Given the description of an element on the screen output the (x, y) to click on. 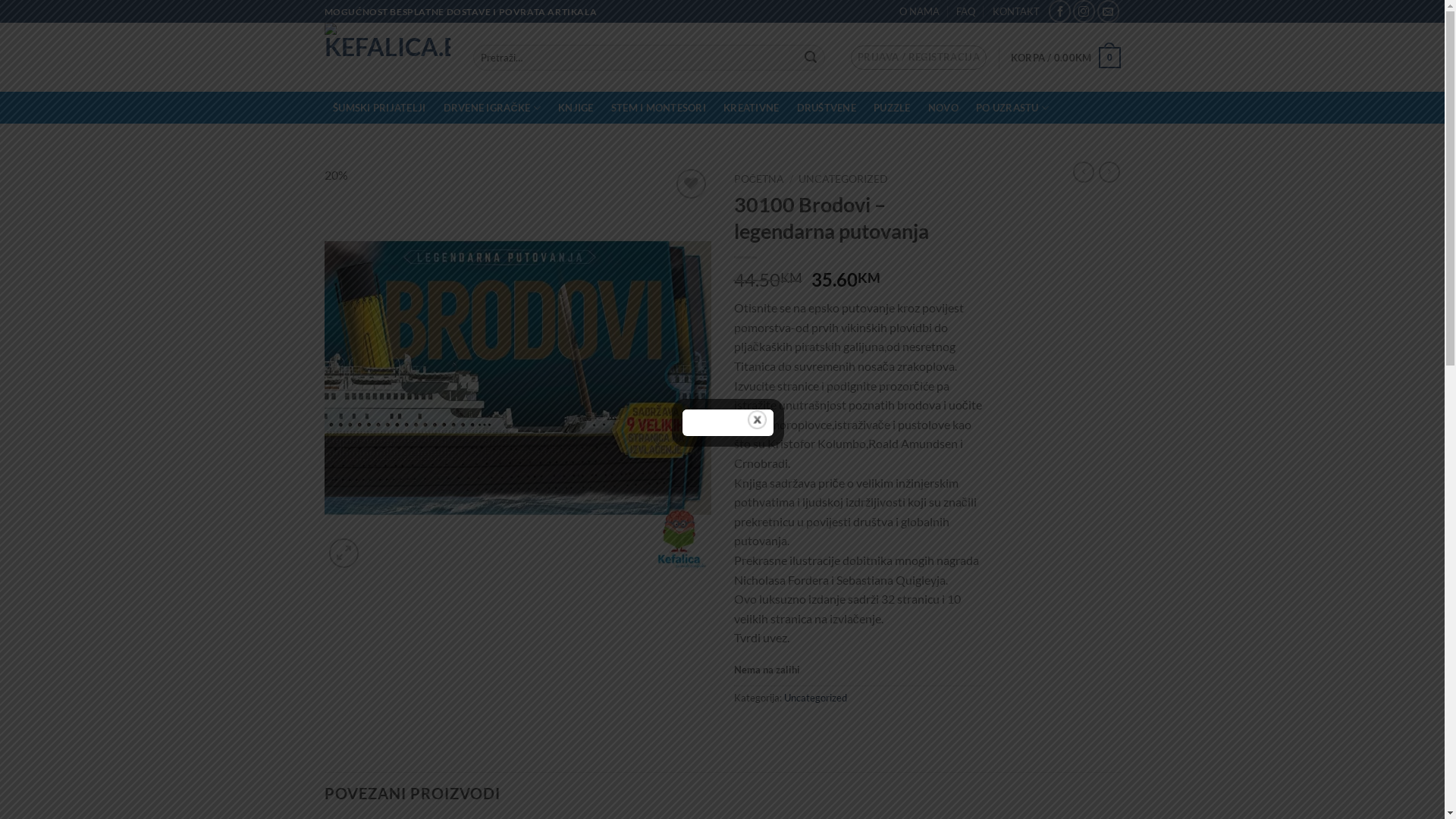
KORPA / 0.00KM
0 Element type: text (1065, 57)
O NAMA Element type: text (919, 11)
NOVO Element type: text (942, 107)
PO UZRASTU Element type: text (1012, 107)
Follow on Instagram Element type: hover (1084, 10)
FAQ Element type: text (965, 11)
KREATIVNE Element type: text (751, 107)
Uncategorized Element type: text (815, 697)
KONTAKT Element type: text (1015, 11)
UNCATEGORIZED Element type: text (843, 178)
STEM I MONTESORI Element type: text (658, 107)
KNJIGE Element type: text (575, 107)
PUZZLE Element type: text (892, 107)
Follow on Facebook Element type: hover (1059, 10)
Zoom Element type: hover (343, 552)
PRIJAVA / REGISTRACIJA Element type: text (918, 57)
Kefalica.ba - Drvene igracke za Male Genijalce Element type: hover (387, 56)
30100-brodovi.jpg Element type: hover (517, 378)
Close Element type: hover (756, 419)
Send us an email Element type: hover (1108, 10)
